Given the description of an element on the screen output the (x, y) to click on. 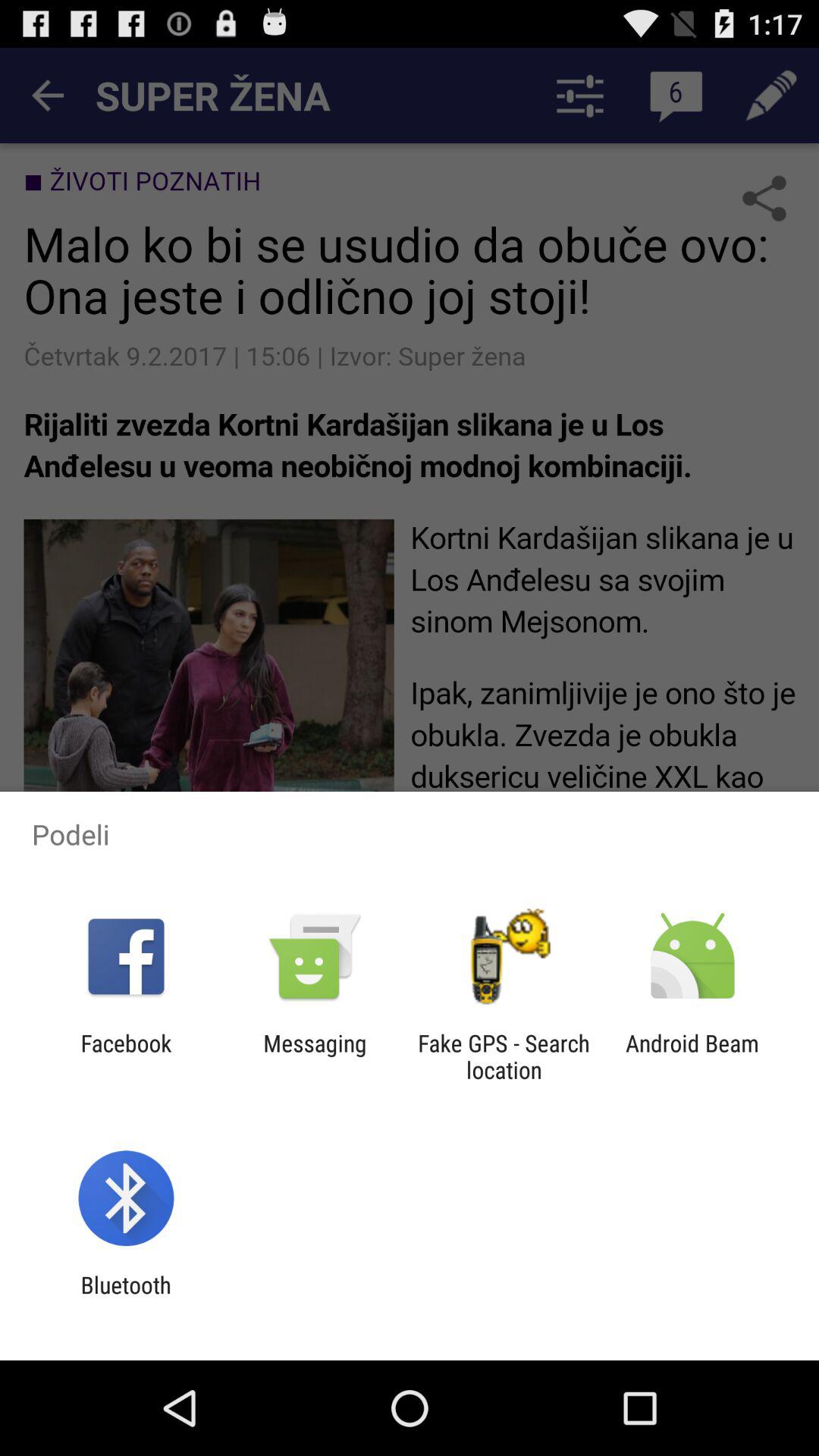
press item to the left of the android beam icon (503, 1056)
